Given the description of an element on the screen output the (x, y) to click on. 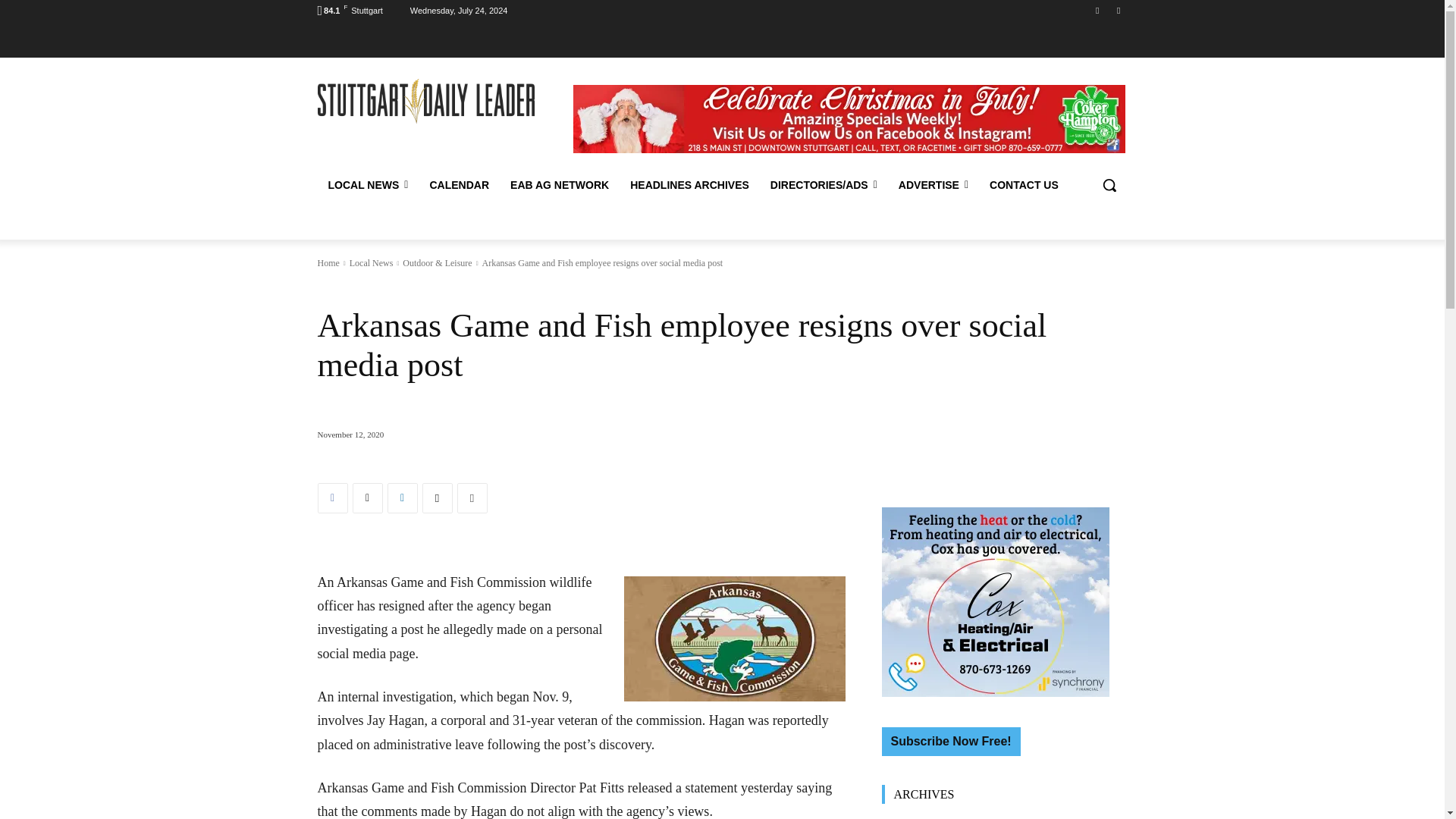
View all posts in Local News (371, 262)
Facebook (332, 498)
Facebook (1097, 9)
LOCAL NEWS (368, 185)
Twitter (366, 498)
Twitter (1117, 9)
